Given the description of an element on the screen output the (x, y) to click on. 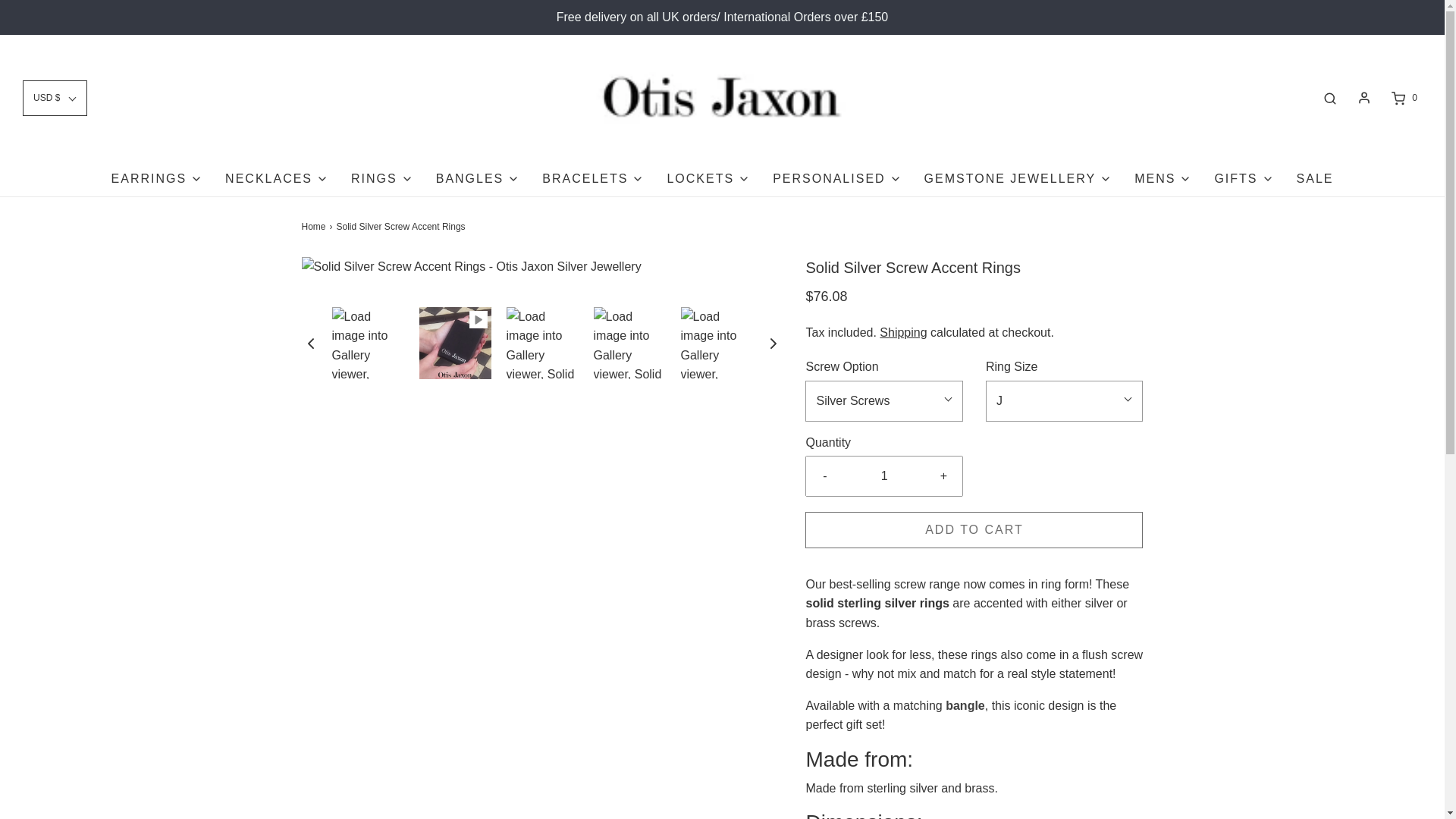
1 (884, 476)
Back to the frontpage (315, 227)
Search (1329, 98)
Cart (1403, 98)
Silver and Gold Raised Screw Bangle (964, 705)
Log in (1364, 97)
